Given the description of an element on the screen output the (x, y) to click on. 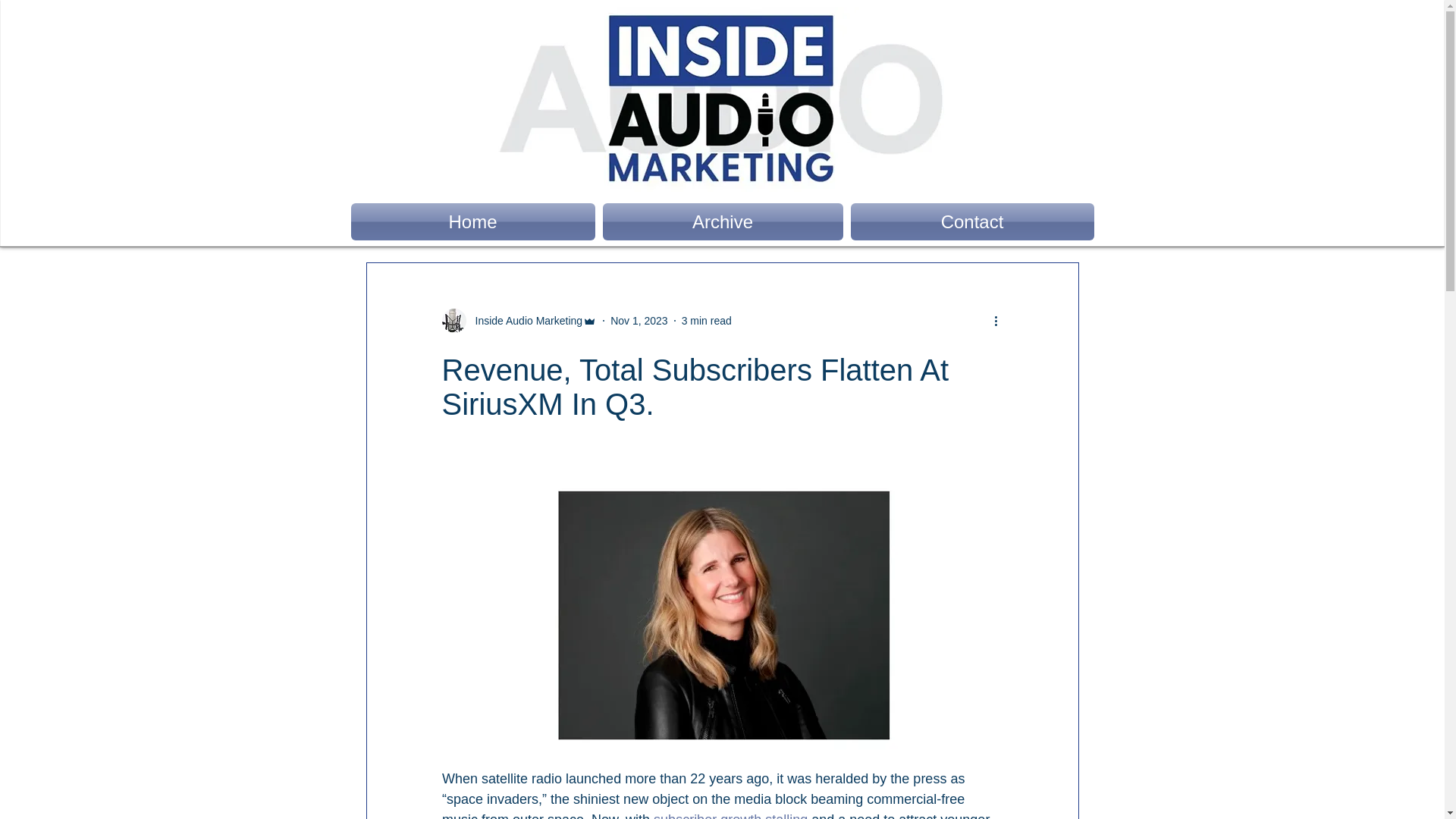
Home (474, 221)
Inside Audio Marketing (518, 320)
subscriber growth stalling (730, 815)
Inside Audio Marketing (523, 320)
3 min read (706, 319)
Archive (722, 221)
Contact (969, 221)
Nov 1, 2023 (639, 319)
